Given the description of an element on the screen output the (x, y) to click on. 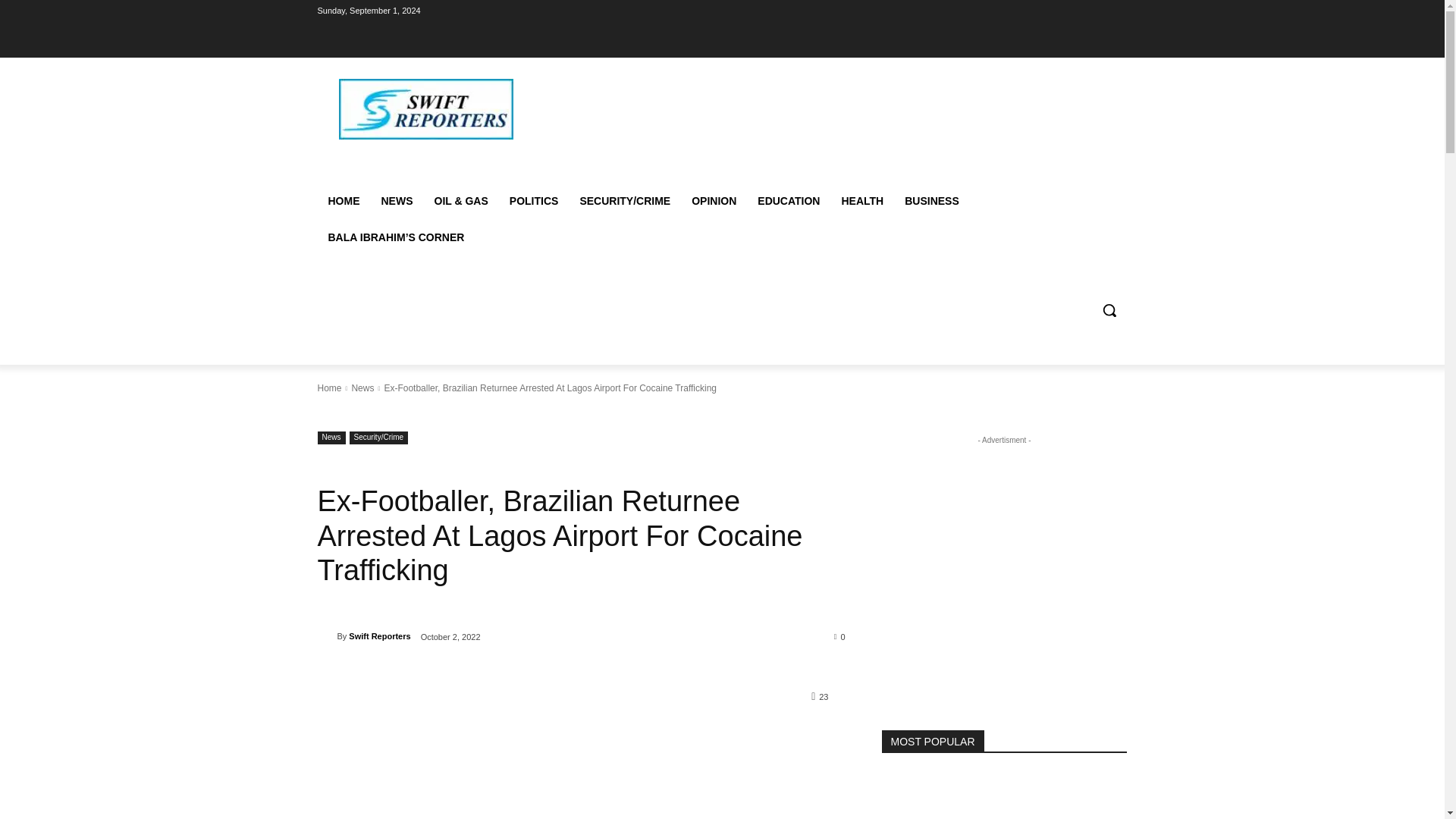
EDUCATION (787, 200)
Swift Reporters (379, 635)
Swift Reporters (326, 635)
OPINION (713, 200)
POLITICS (534, 200)
BUSINESS (931, 200)
0 (839, 635)
NEWS (396, 200)
View all posts in News (362, 388)
News (362, 388)
